Given the description of an element on the screen output the (x, y) to click on. 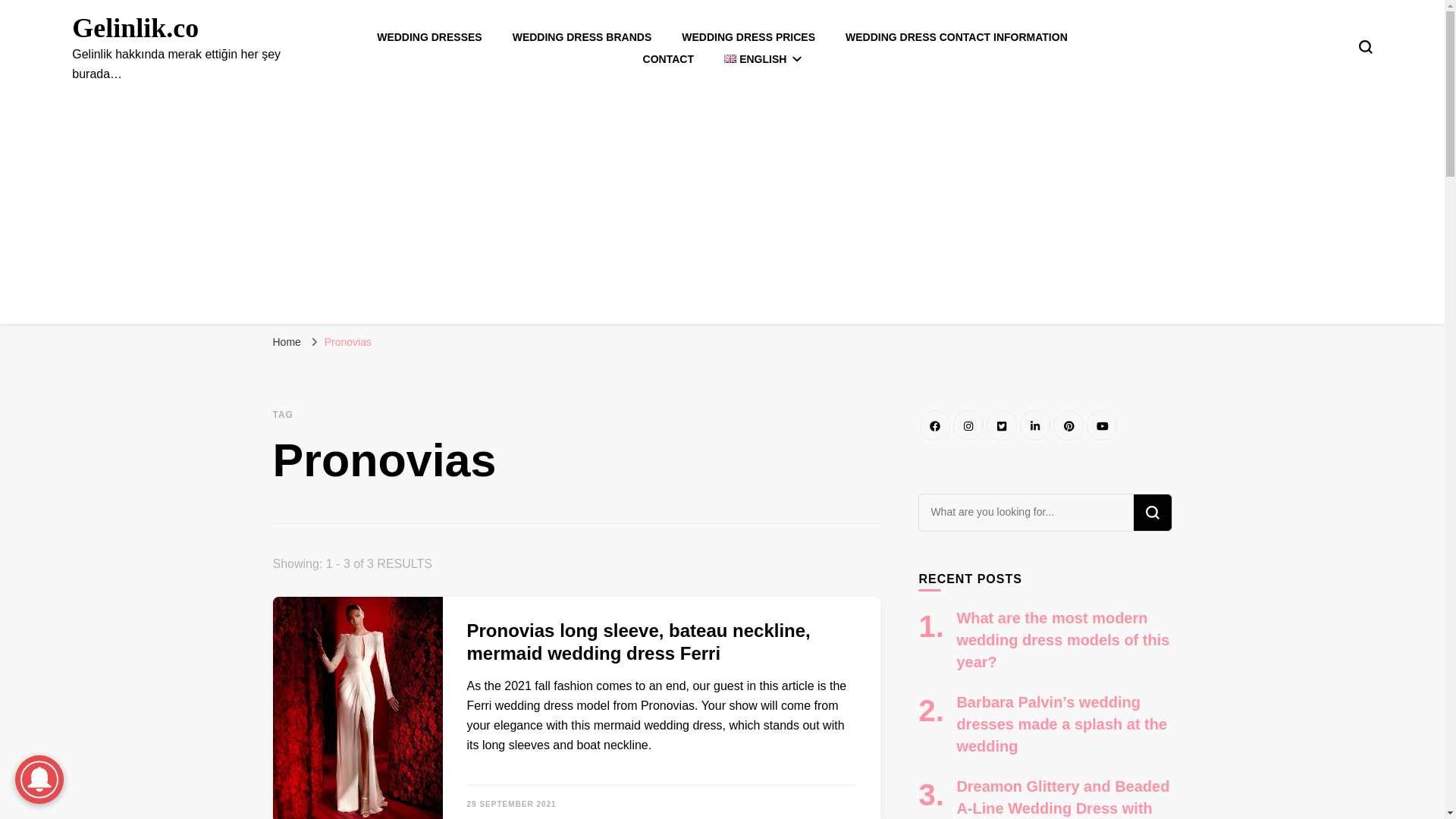
WEDDING DRESS PRICES (748, 37)
Gelinlik.co (134, 28)
Search (1151, 512)
WEDDING DRESSES (429, 37)
CONTACT (668, 59)
WEDDING DRESS BRANDS (582, 37)
Search (1151, 512)
Pronovias (347, 341)
WEDDING DRESS CONTACT INFORMATION (956, 37)
ENGLISH (762, 59)
29 SEPTEMBER 2021 (511, 804)
Home (287, 341)
